Given the description of an element on the screen output the (x, y) to click on. 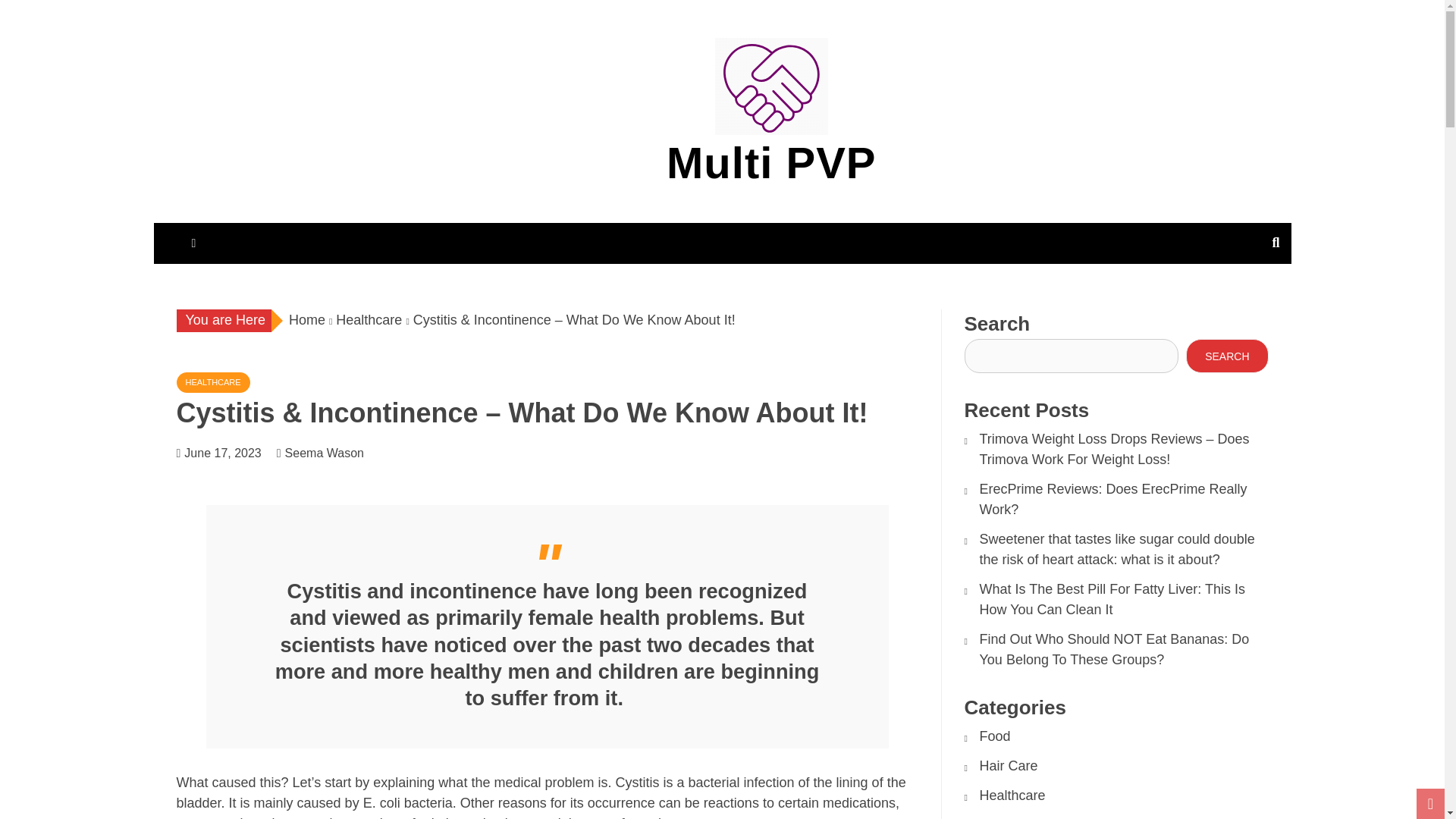
SEARCH (1227, 356)
Healthcare (368, 319)
Home (306, 319)
Food (994, 735)
Multi PVP (771, 162)
June 17, 2023 (222, 452)
Healthcare (1012, 795)
